Given the description of an element on the screen output the (x, y) to click on. 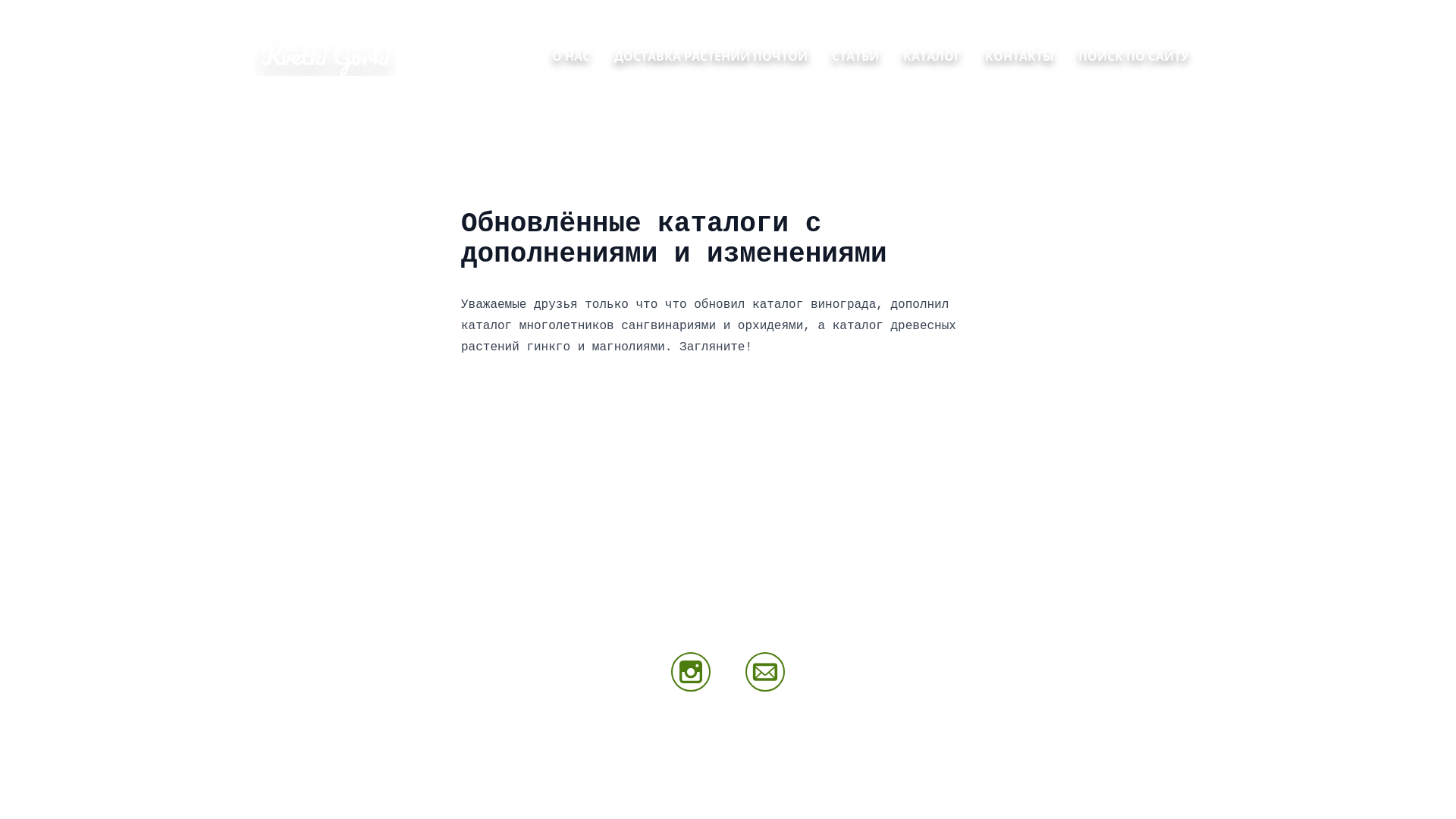
Kvetki Gorki Element type: text (324, 55)
+375 29 748 56 48 Element type: text (1000, 657)
